Given the description of an element on the screen output the (x, y) to click on. 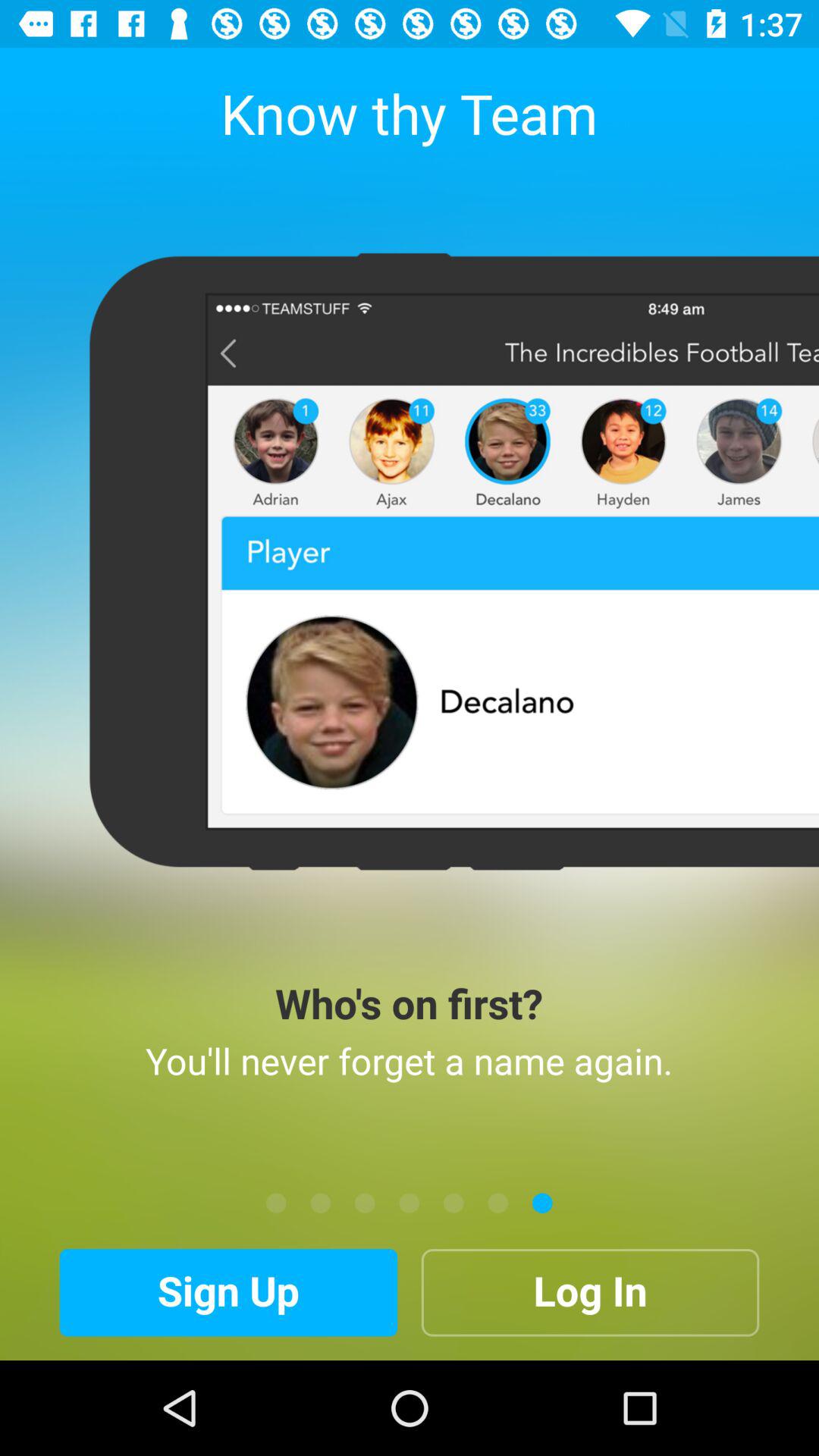
move the screen image (409, 1203)
